Given the description of an element on the screen output the (x, y) to click on. 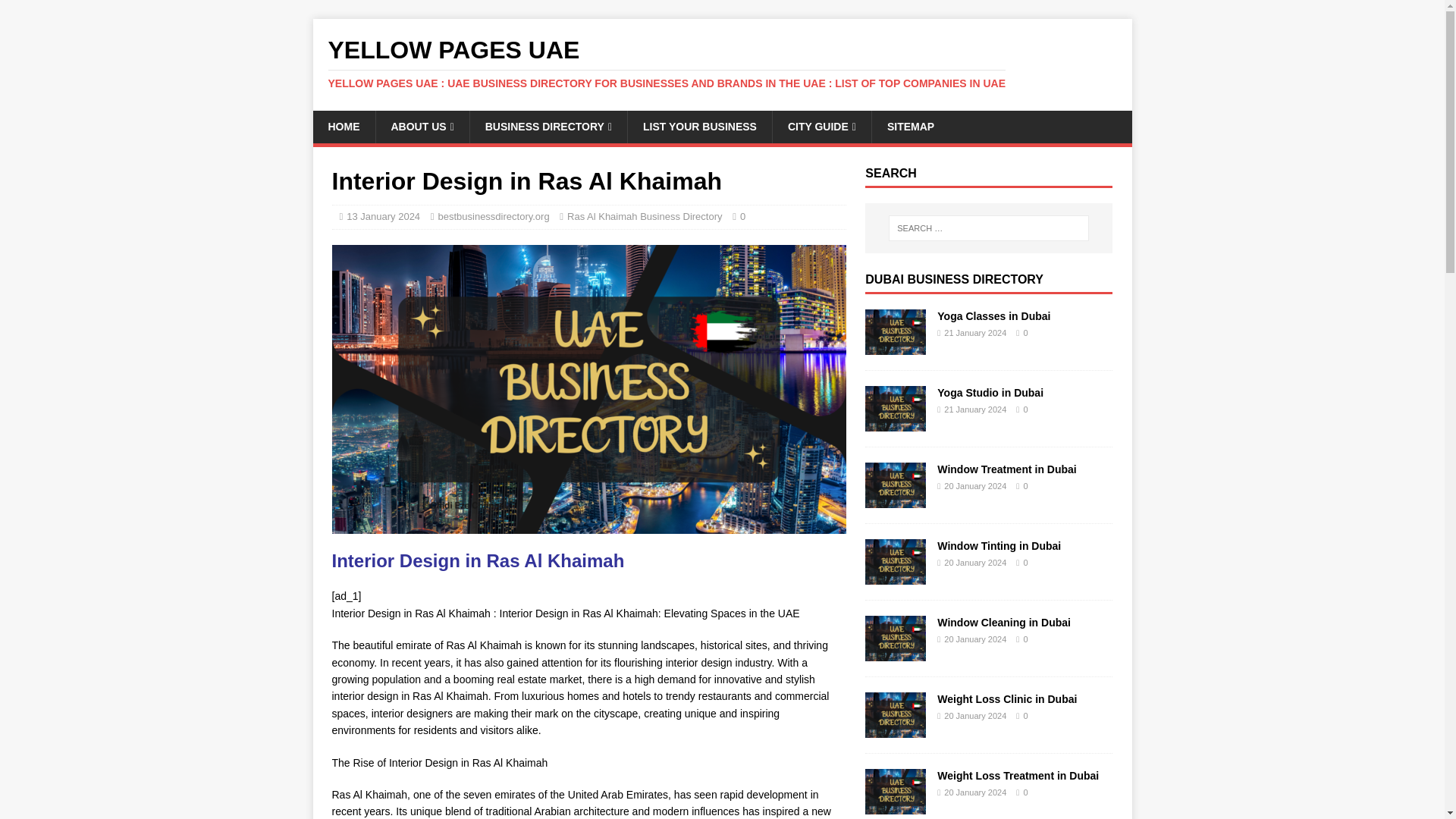
Window Cleaning in Dubai (1003, 622)
Window Cleaning in Dubai (895, 653)
Yoga Studio in Dubai (895, 422)
Window Tinting in Dubai (999, 545)
ABOUT US (421, 126)
Yellow Pages UAE (721, 63)
Window Tinting in Dubai (895, 576)
Yoga Classes in Dubai (895, 346)
